Given the description of an element on the screen output the (x, y) to click on. 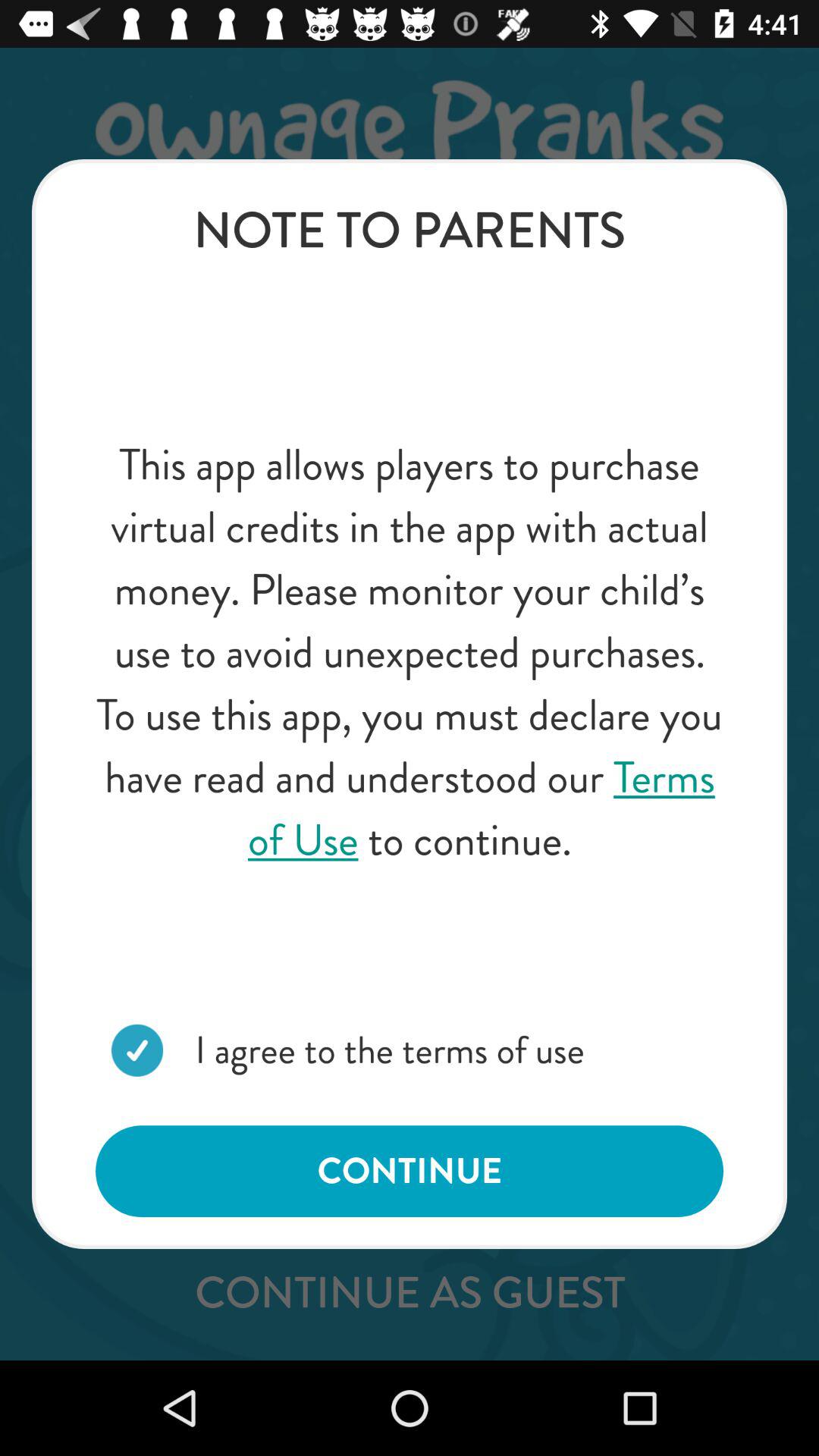
turn on item below the i agree to (409, 1171)
